Given the description of an element on the screen output the (x, y) to click on. 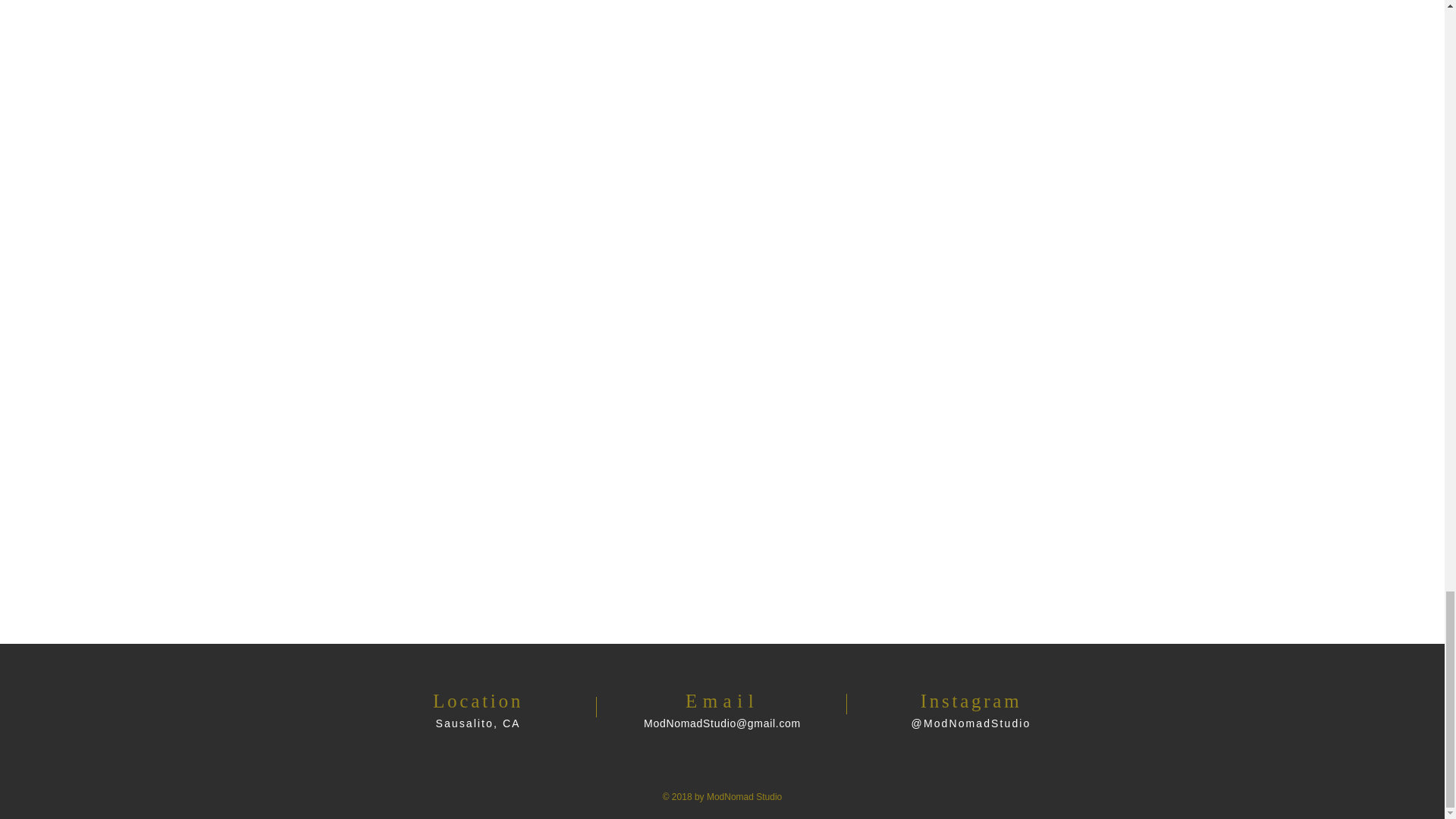
Email (721, 701)
Instagram (971, 701)
